Given the description of an element on the screen output the (x, y) to click on. 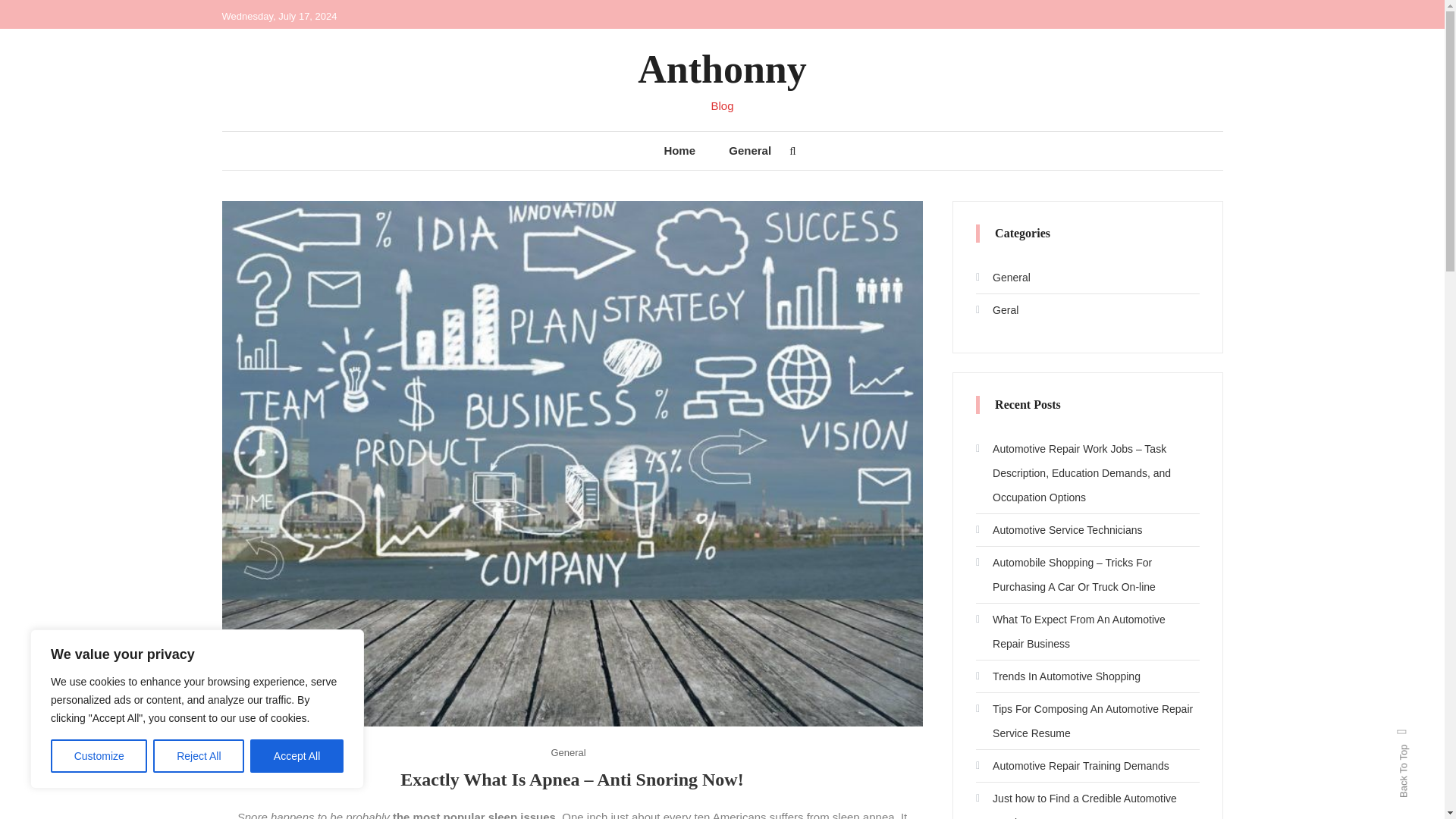
Home (678, 150)
Accept All (296, 756)
Anthonny (721, 68)
Reject All (198, 756)
General (1002, 277)
General (749, 150)
Customize (98, 756)
Geral (996, 310)
General (567, 752)
